Given the description of an element on the screen output the (x, y) to click on. 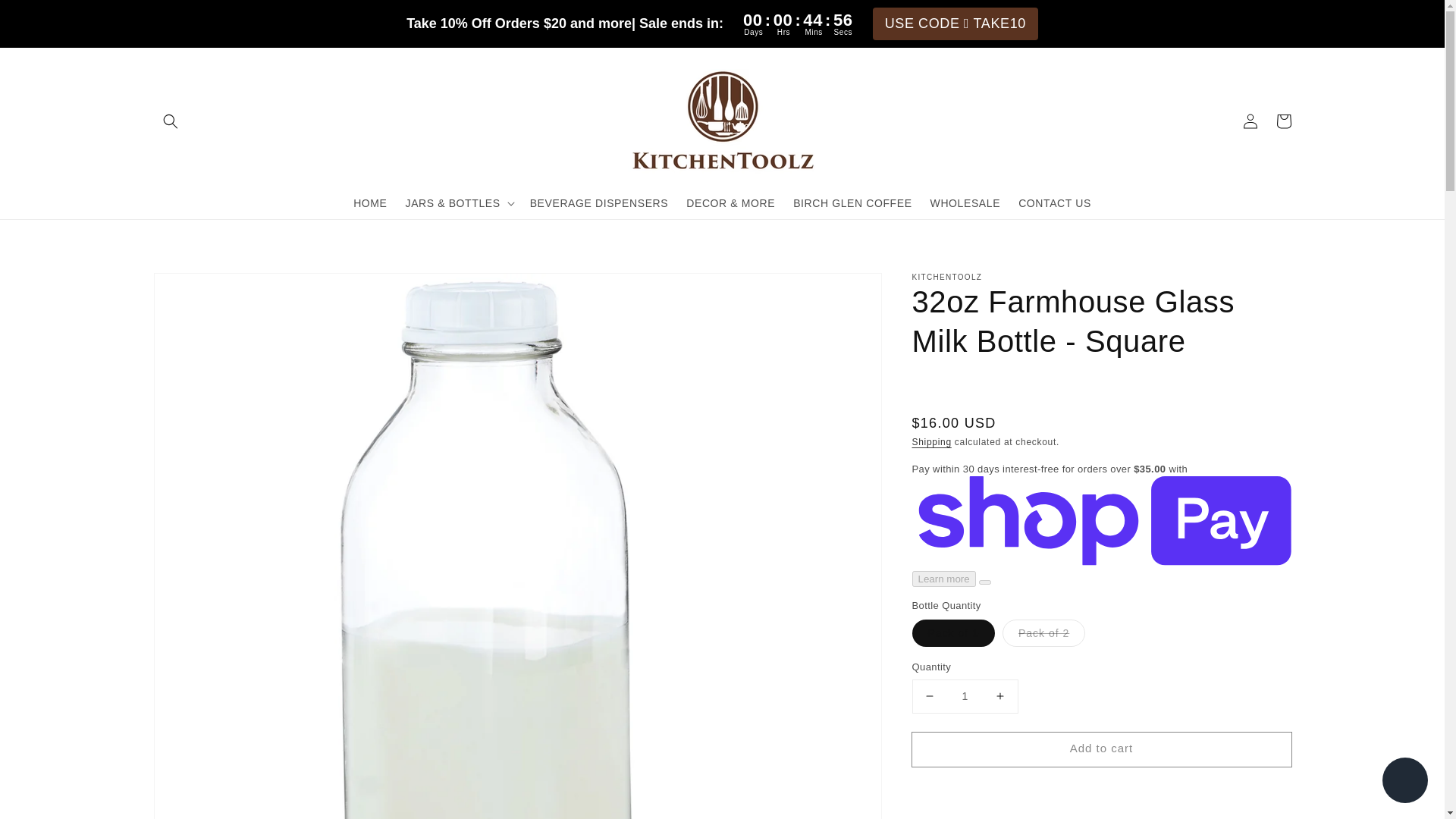
HOME (369, 202)
1 (964, 696)
Shopify online store chat (1404, 781)
Skip to content (45, 16)
BEVERAGE DISPENSERS (599, 202)
